Given the description of an element on the screen output the (x, y) to click on. 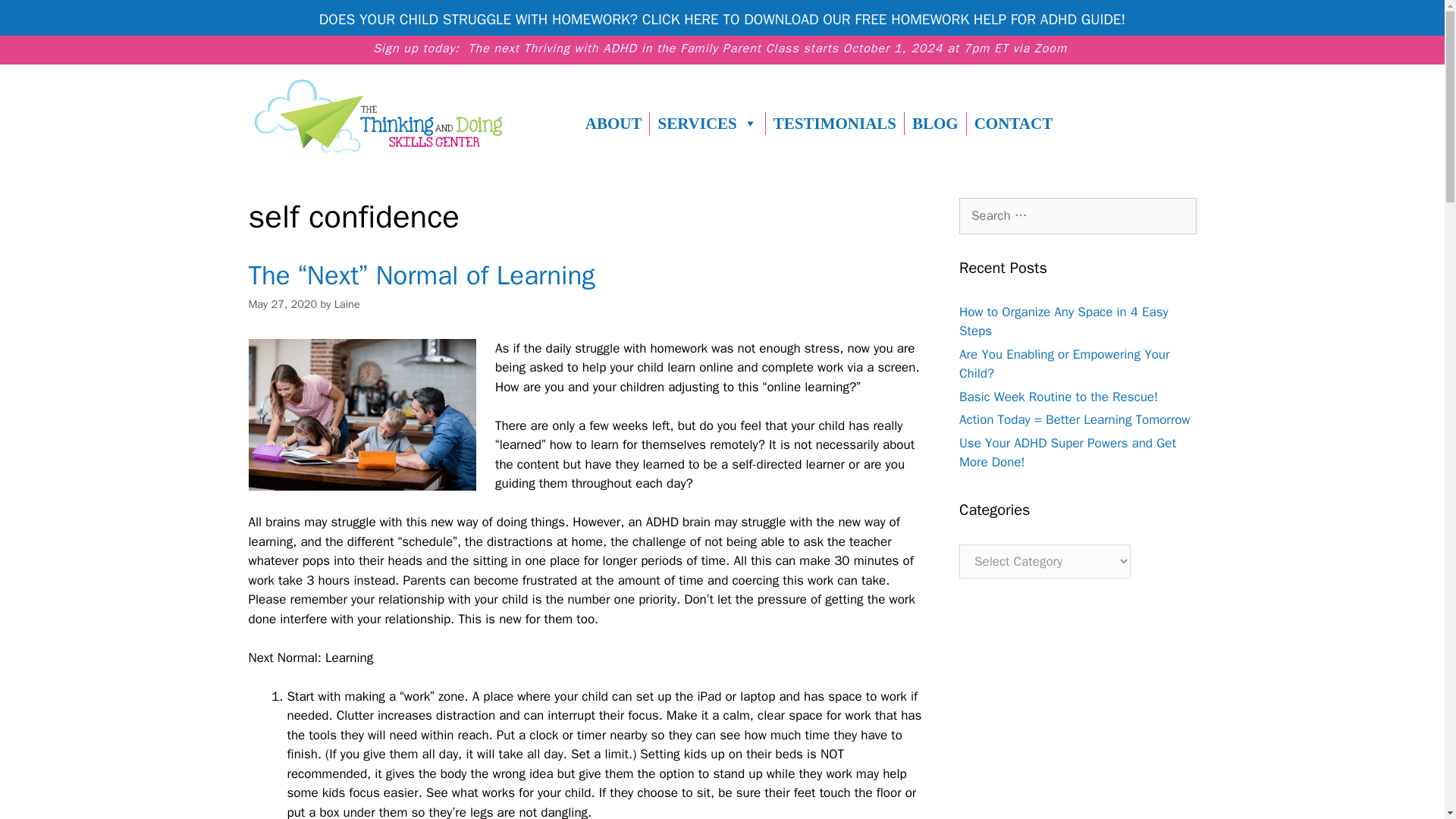
CONTACT (1012, 123)
TDSCLogo-ColorHORIZONTALNOTAGLINE (378, 115)
BLOG (935, 123)
TESTIMONIALS (834, 123)
ABOUT (613, 123)
Laine (346, 304)
SERVICES (706, 123)
View all posts by Laine (346, 304)
Search for: (1077, 216)
